Given the description of an element on the screen output the (x, y) to click on. 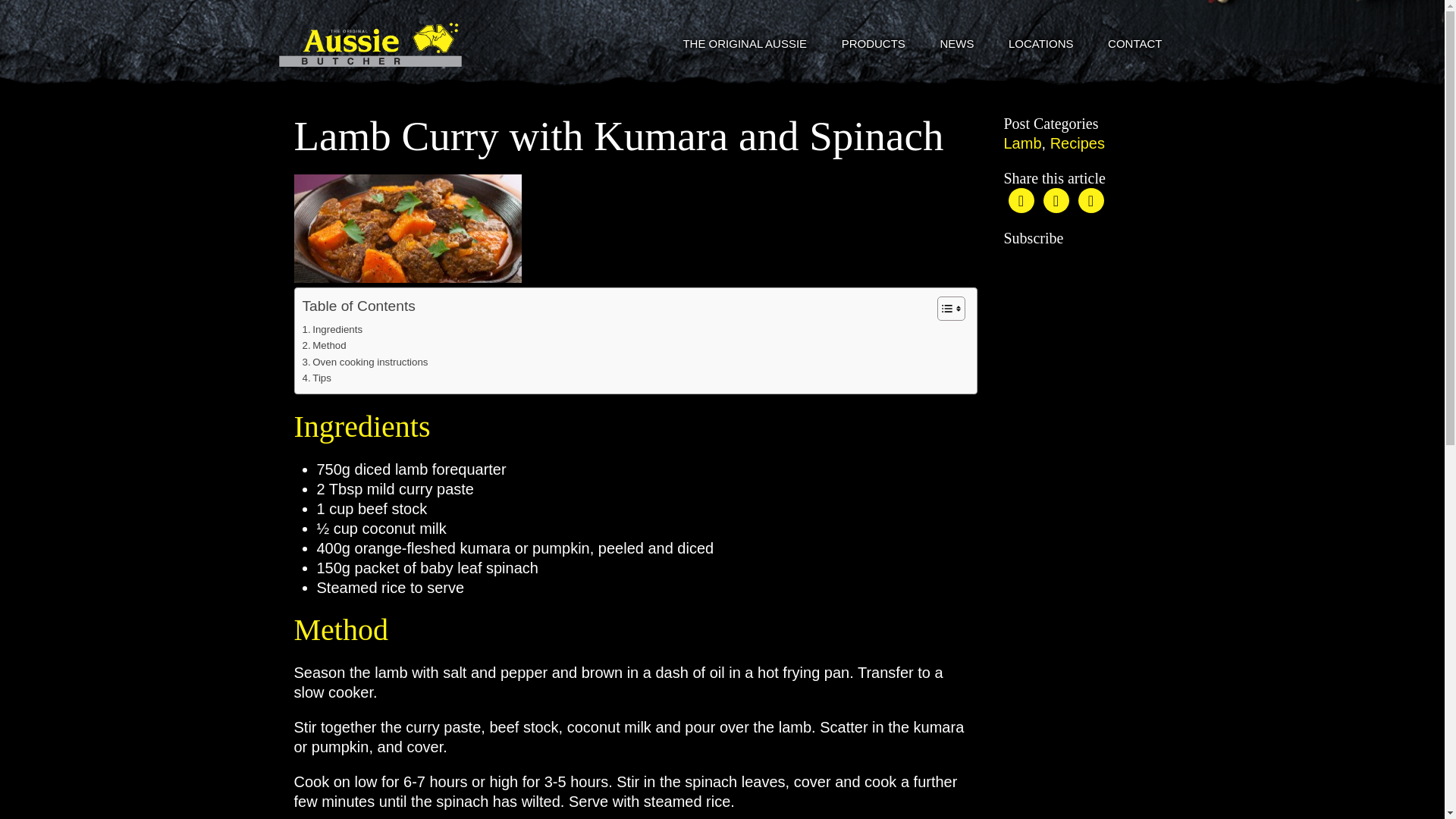
Tips (315, 377)
CONTACT (1134, 43)
Oven cooking instructions (364, 361)
NEWS (956, 43)
Method (323, 344)
PRODUCTS (873, 43)
Method (323, 344)
Oven cooking instructions (364, 361)
THE ORIGINAL AUSSIE (744, 43)
LOCATIONS (1040, 43)
